Given the description of an element on the screen output the (x, y) to click on. 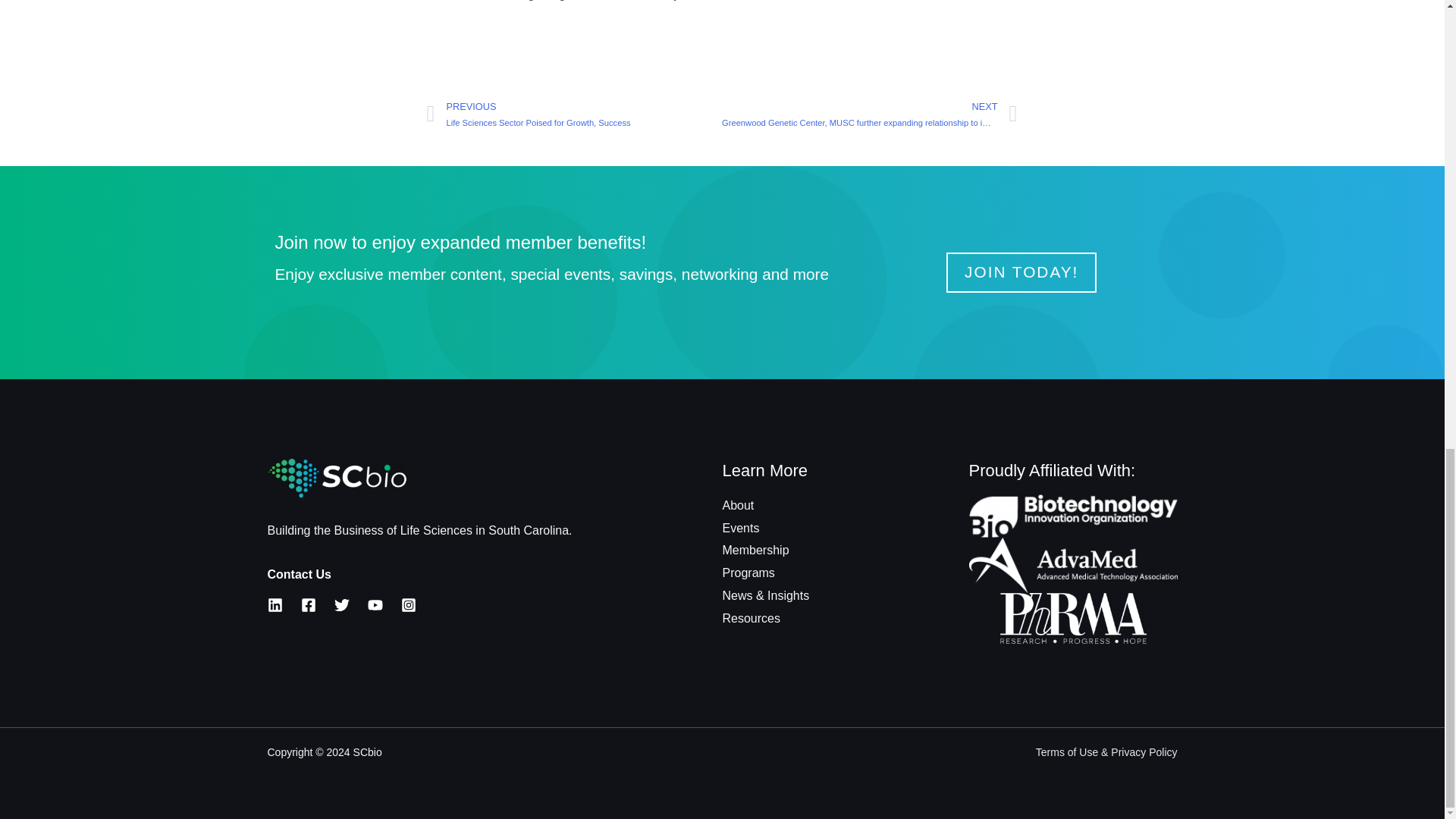
PhRMA (1073, 626)
AdvaMed (1073, 579)
Save with SCbio (1073, 514)
